Given the description of an element on the screen output the (x, y) to click on. 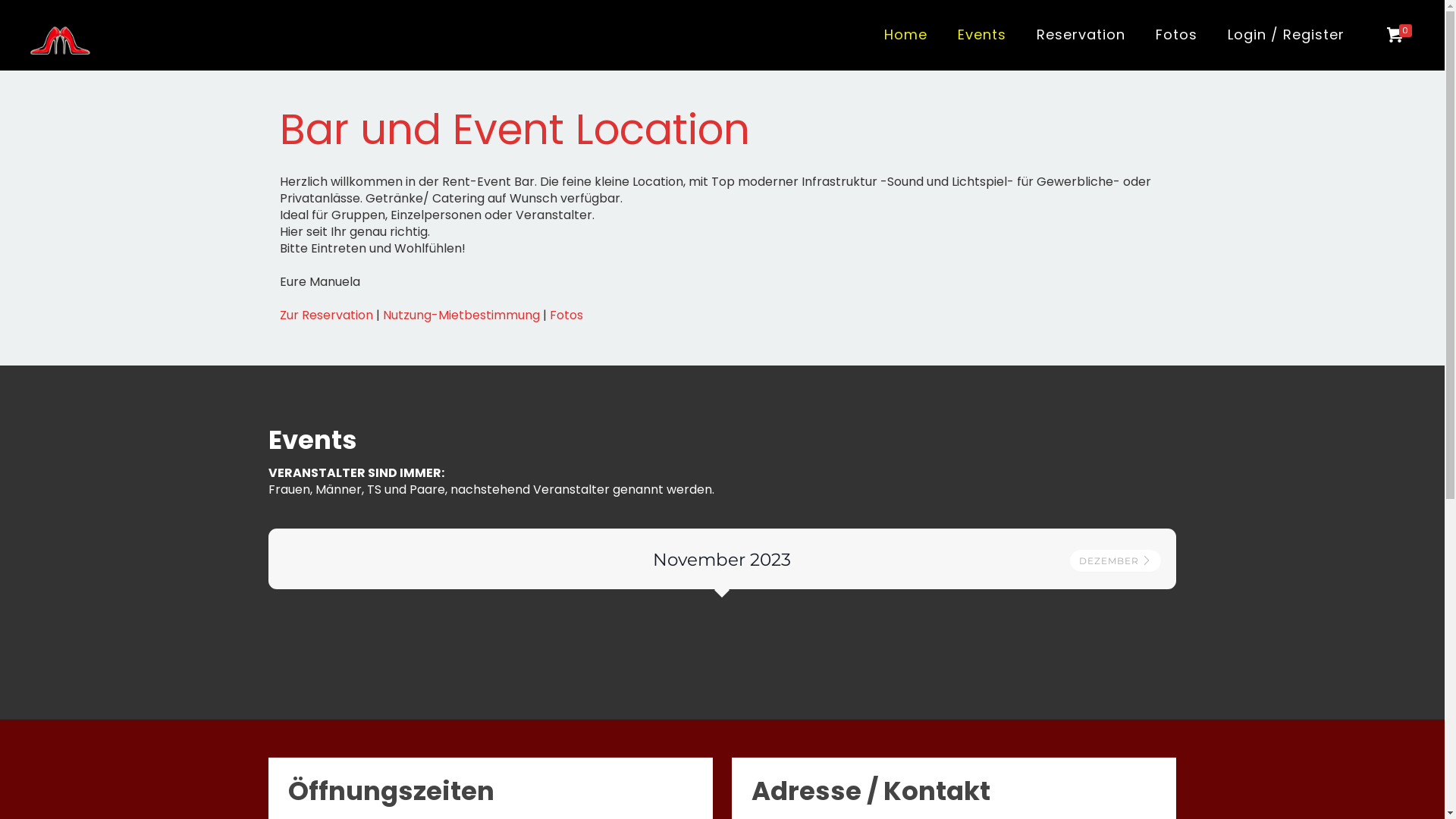
Home Element type: text (905, 34)
Events Element type: text (981, 34)
Login / Register Element type: text (1285, 34)
0 Element type: text (1400, 35)
Reservation Element type: text (1080, 34)
Fotos Element type: text (1176, 34)
Fotos Element type: text (566, 314)
Zur Reservation Element type: text (326, 314)
Swiss Party Lounge Element type: hover (59, 34)
Login / Register Element type: text (1285, 34)
DEZEMBER Element type: text (1115, 560)
Nutzung-Mietbestimmung Element type: text (460, 314)
